Given the description of an element on the screen output the (x, y) to click on. 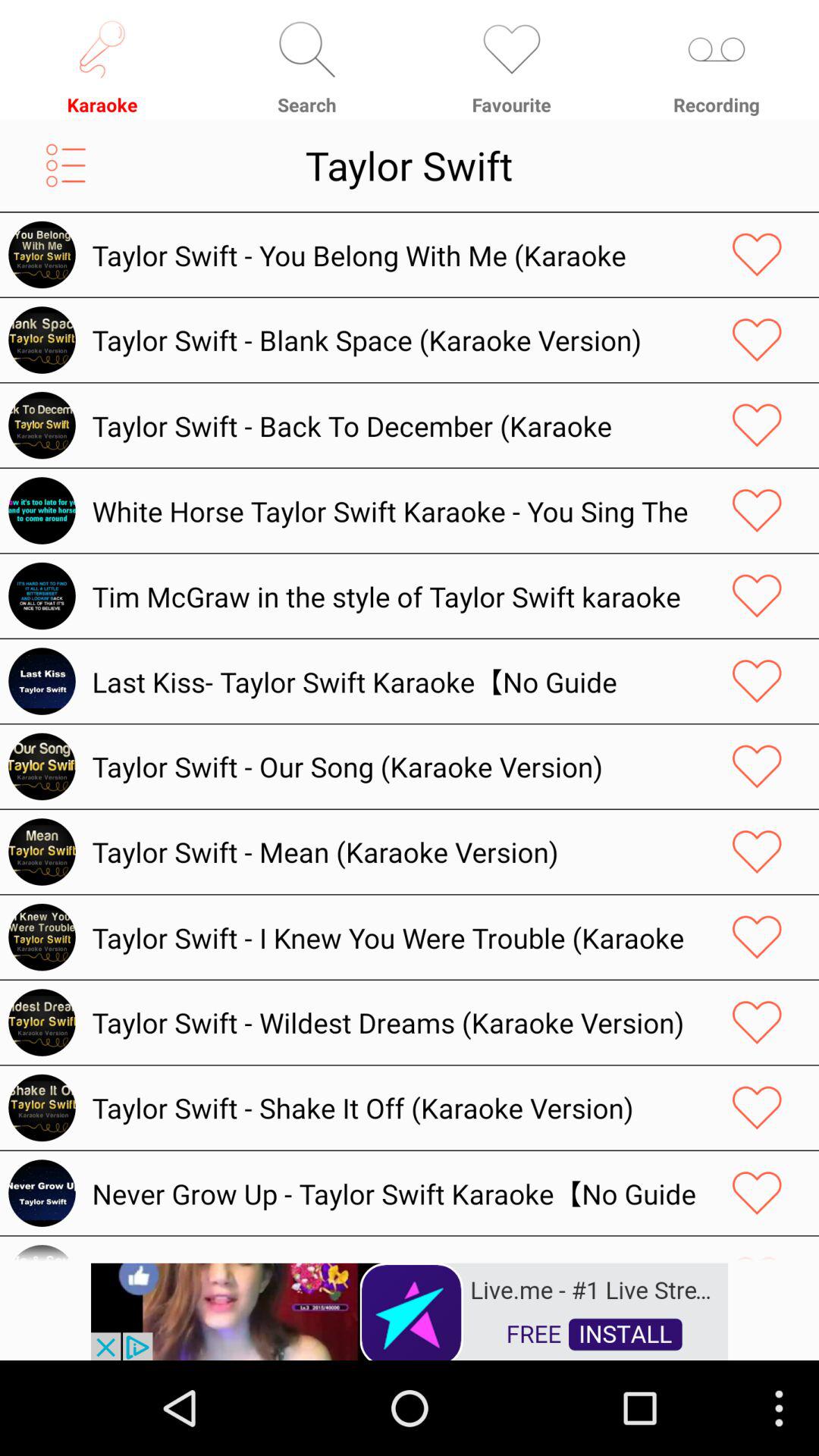
favorite the song (756, 254)
